Given the description of an element on the screen output the (x, y) to click on. 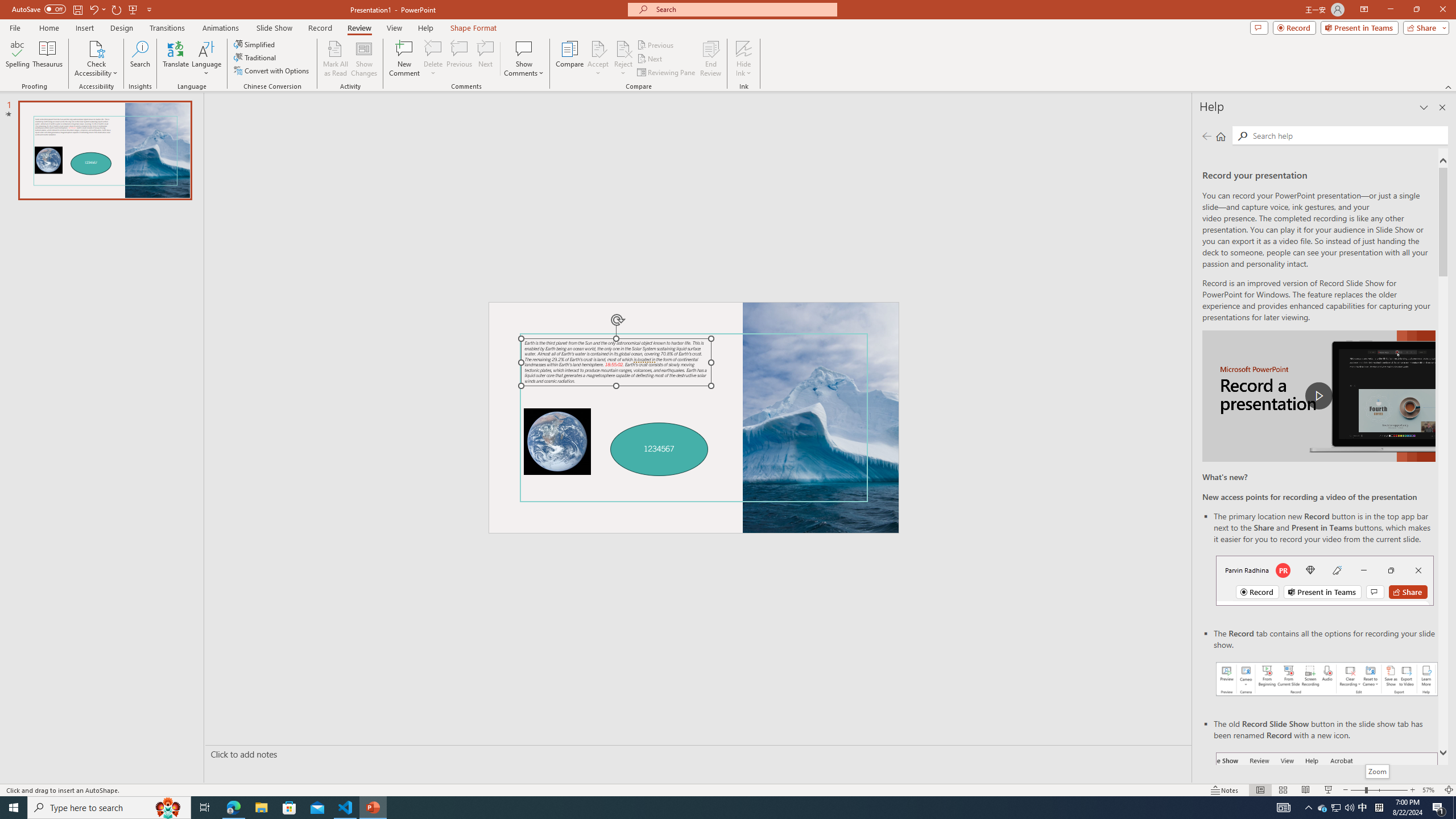
Next (649, 58)
Convert with Options... (272, 69)
Hide Ink (743, 58)
Record your presentations screenshot one (1326, 678)
Language (206, 58)
Show Changes (363, 58)
New Comment (403, 58)
Traditional (255, 56)
